Given the description of an element on the screen output the (x, y) to click on. 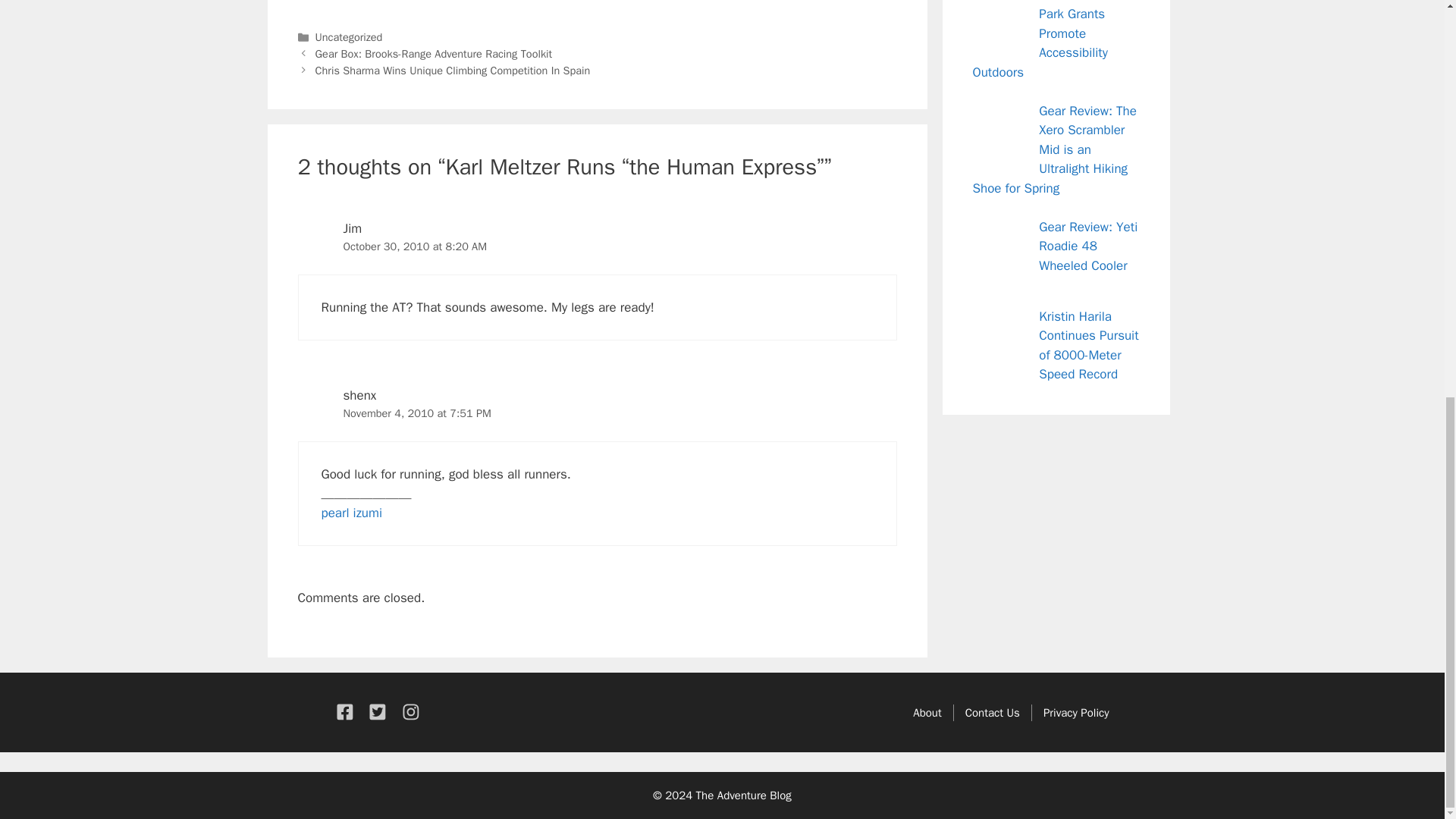
Uncategorized (348, 37)
Chris Sharma Wins Unique Climbing Competition In Spain (453, 69)
Gear Box: Brooks-Range Adventure Racing Toolkit (434, 53)
